Given the description of an element on the screen output the (x, y) to click on. 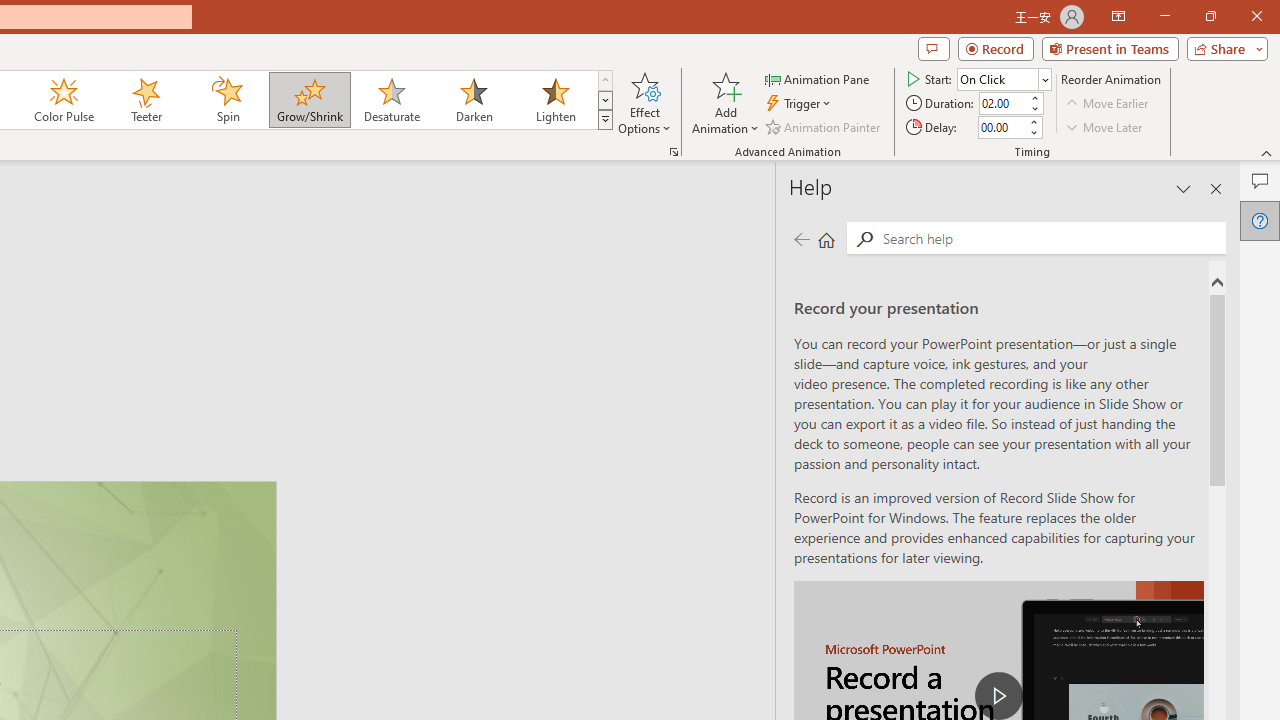
Animation Styles (605, 120)
play Record a Presentation (998, 695)
Teeter (145, 100)
Darken (473, 100)
